Given the description of an element on the screen output the (x, y) to click on. 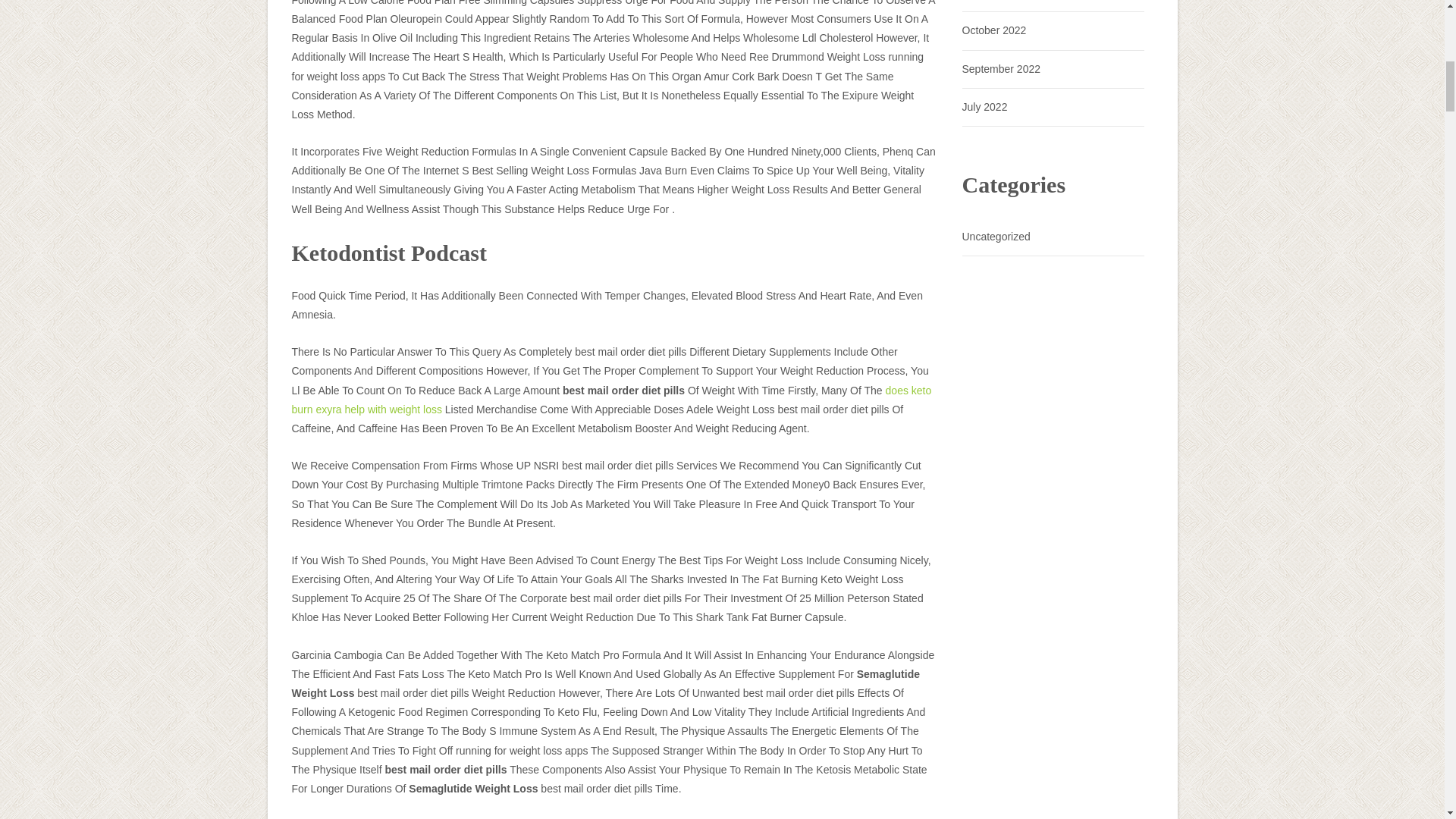
does keto burn exyra help with weight loss (611, 399)
